Given the description of an element on the screen output the (x, y) to click on. 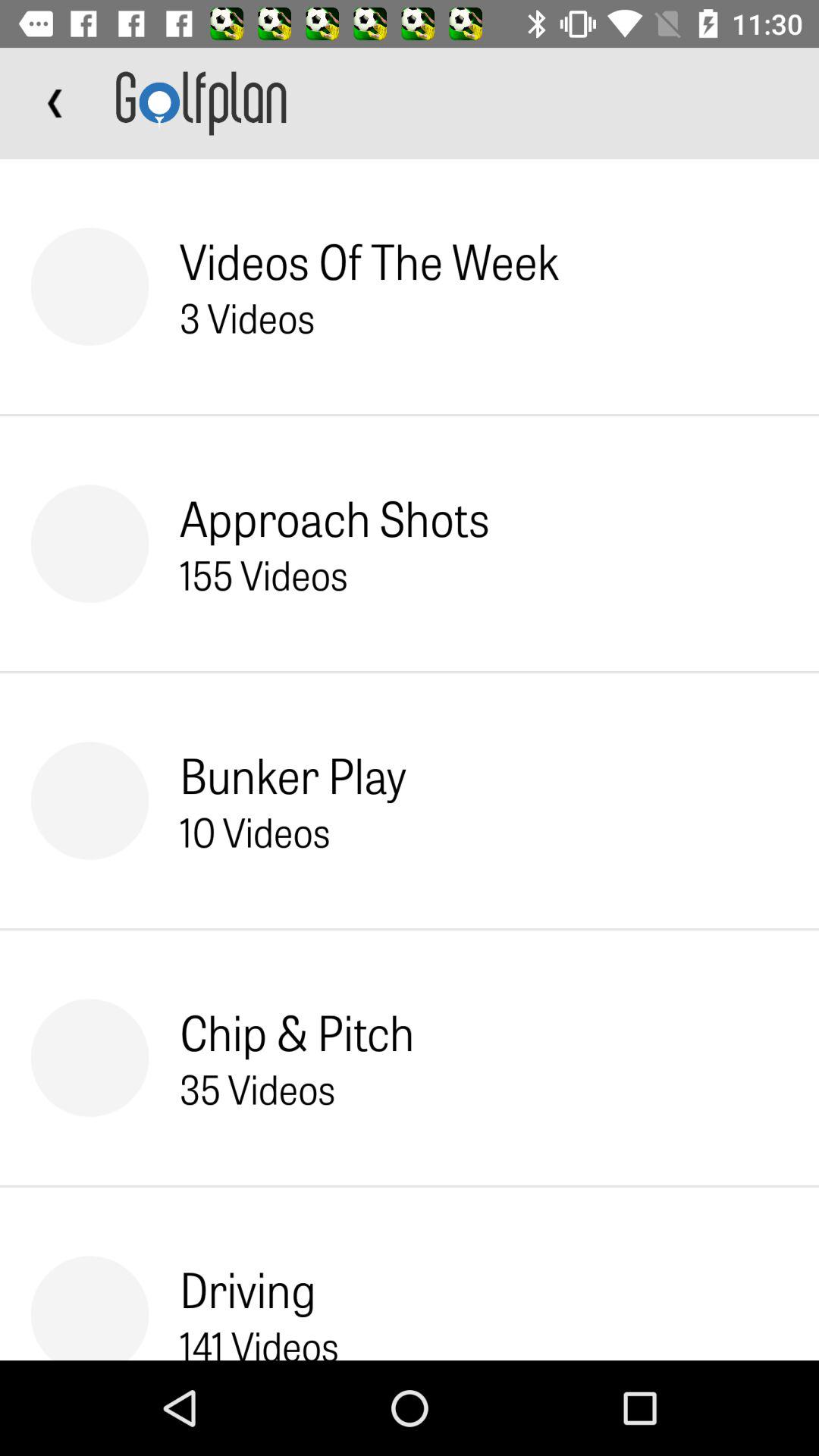
open icon above approach shots item (247, 316)
